Given the description of an element on the screen output the (x, y) to click on. 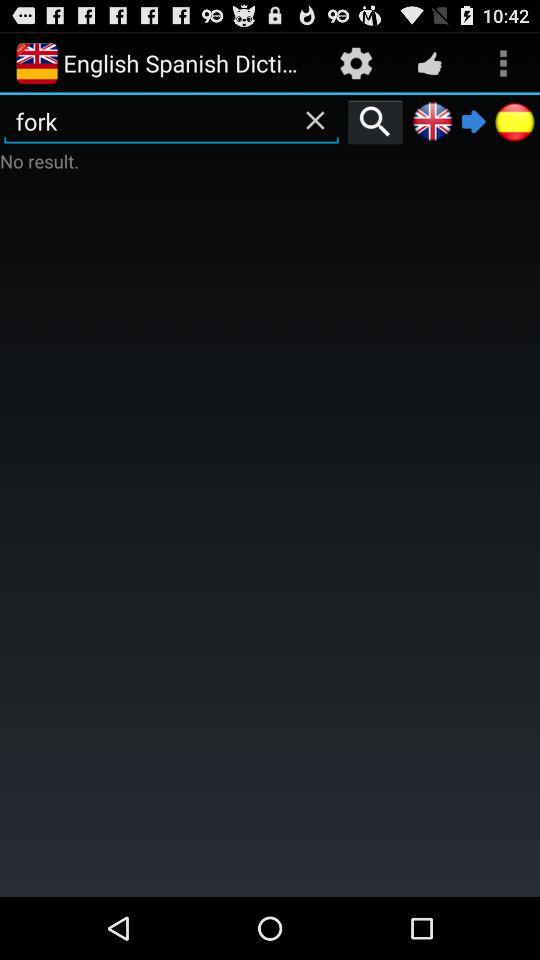
choose the item next to the fork (375, 121)
